Given the description of an element on the screen output the (x, y) to click on. 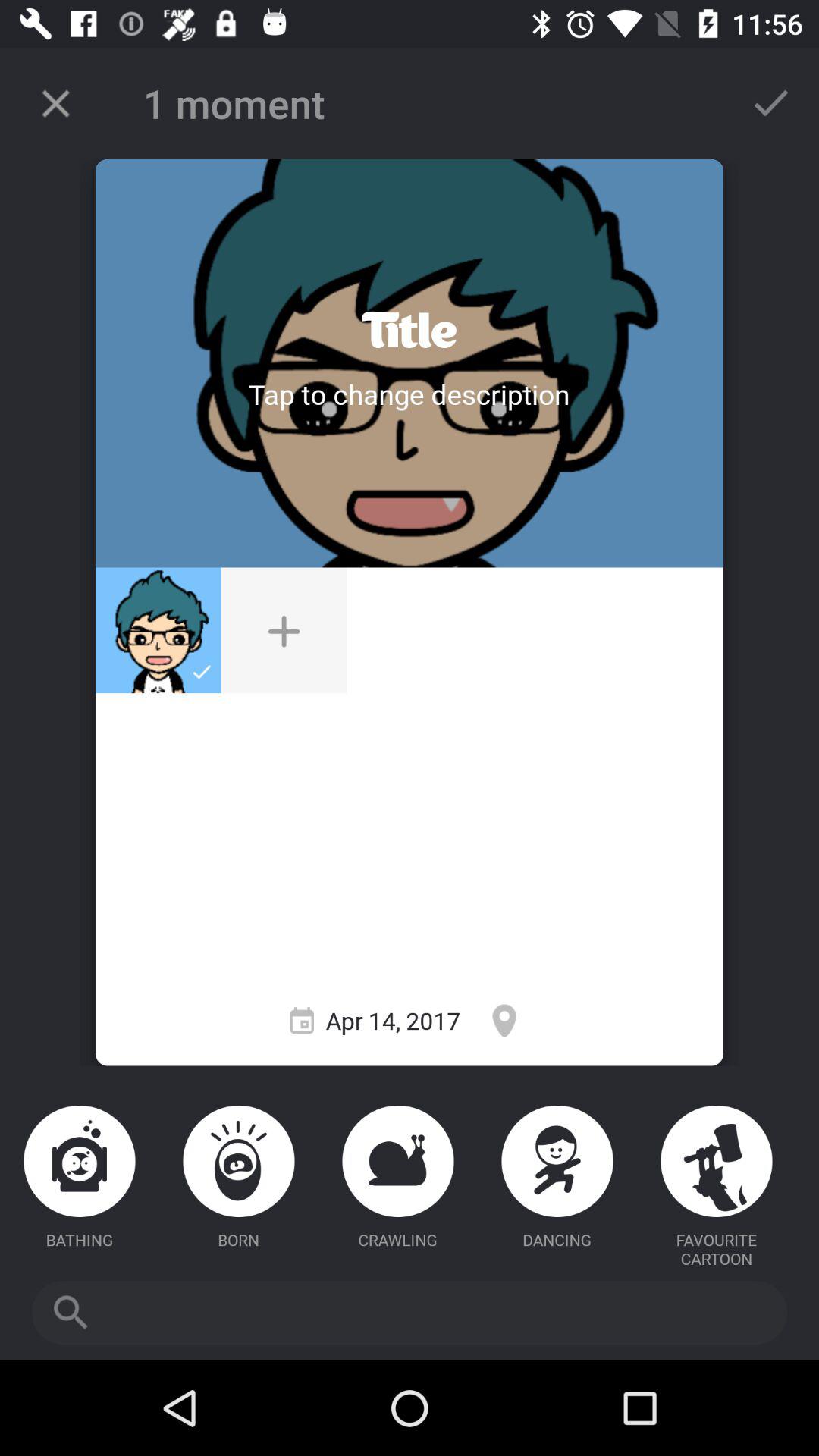
change title (408, 330)
